Given the description of an element on the screen output the (x, y) to click on. 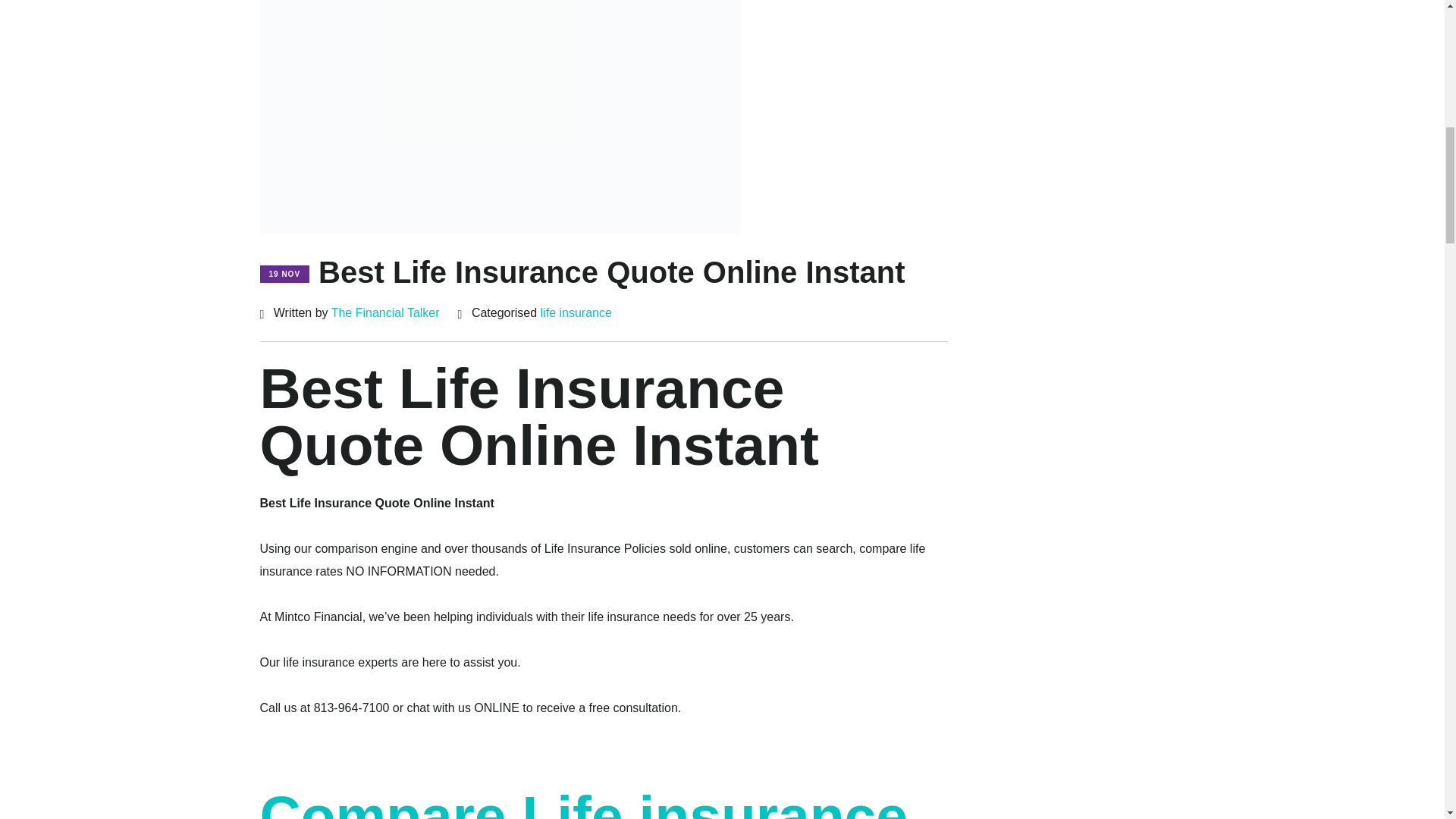
Posts by The Financial Talker (385, 312)
The Financial Talker (385, 312)
life insurance (575, 312)
19 NOVBest Life Insurance Quote Online Instant (581, 277)
Compare Life insurance Rates (583, 801)
